Given the description of an element on the screen output the (x, y) to click on. 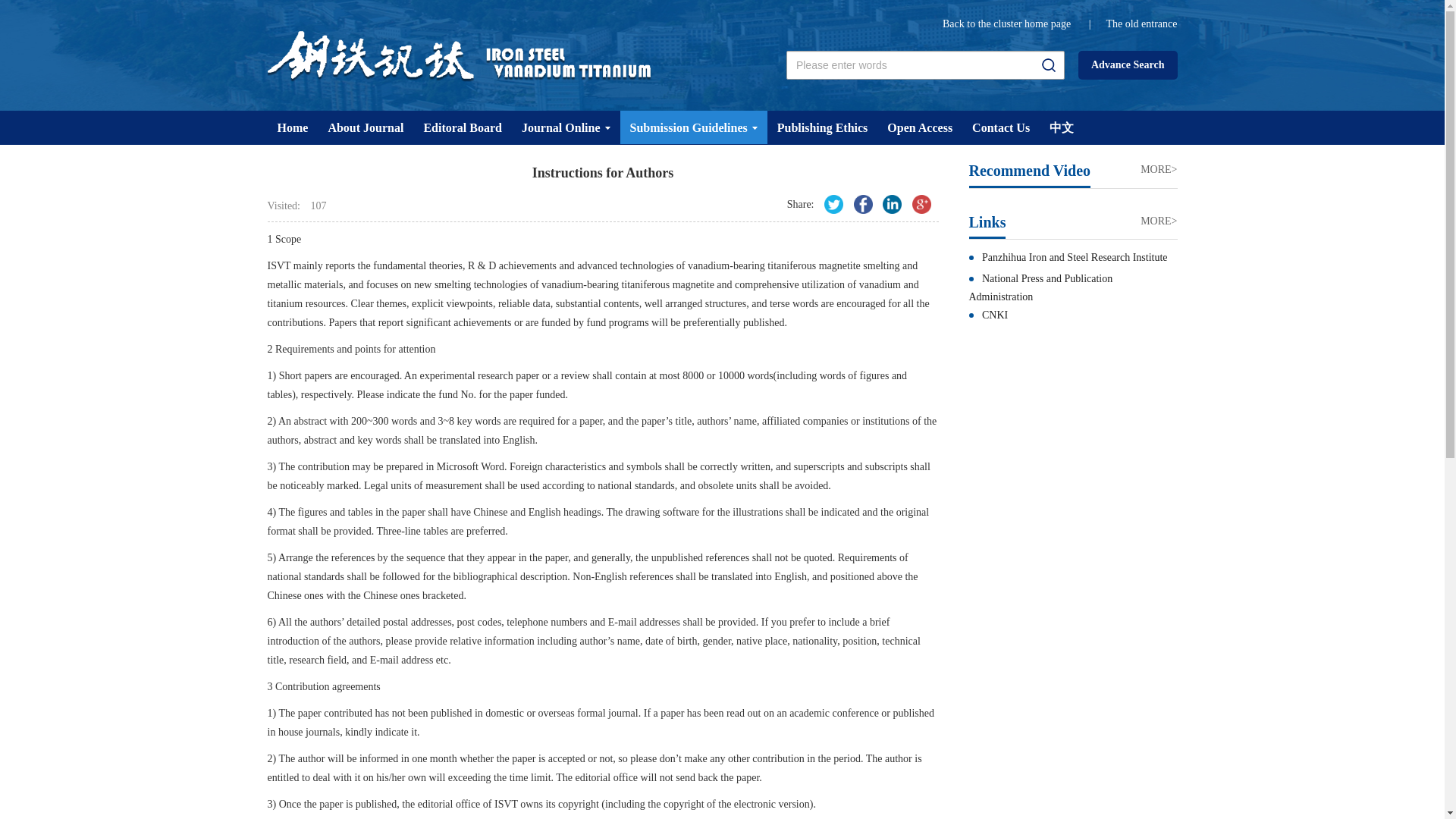
Back to the cluster home page (1006, 23)
Journal Online (566, 127)
Editoral Board (462, 127)
share this content in facebook (862, 203)
About Journal (365, 127)
Submission Guidelines (693, 127)
share this content in twitter (833, 203)
share this content in googleplus (920, 203)
Publishing Ethics (822, 127)
Advance Search (1127, 64)
share this content in linkedin (891, 203)
Contact Us (1000, 127)
Open Access (919, 127)
The old entrance (1140, 23)
Home (291, 127)
